Given the description of an element on the screen output the (x, y) to click on. 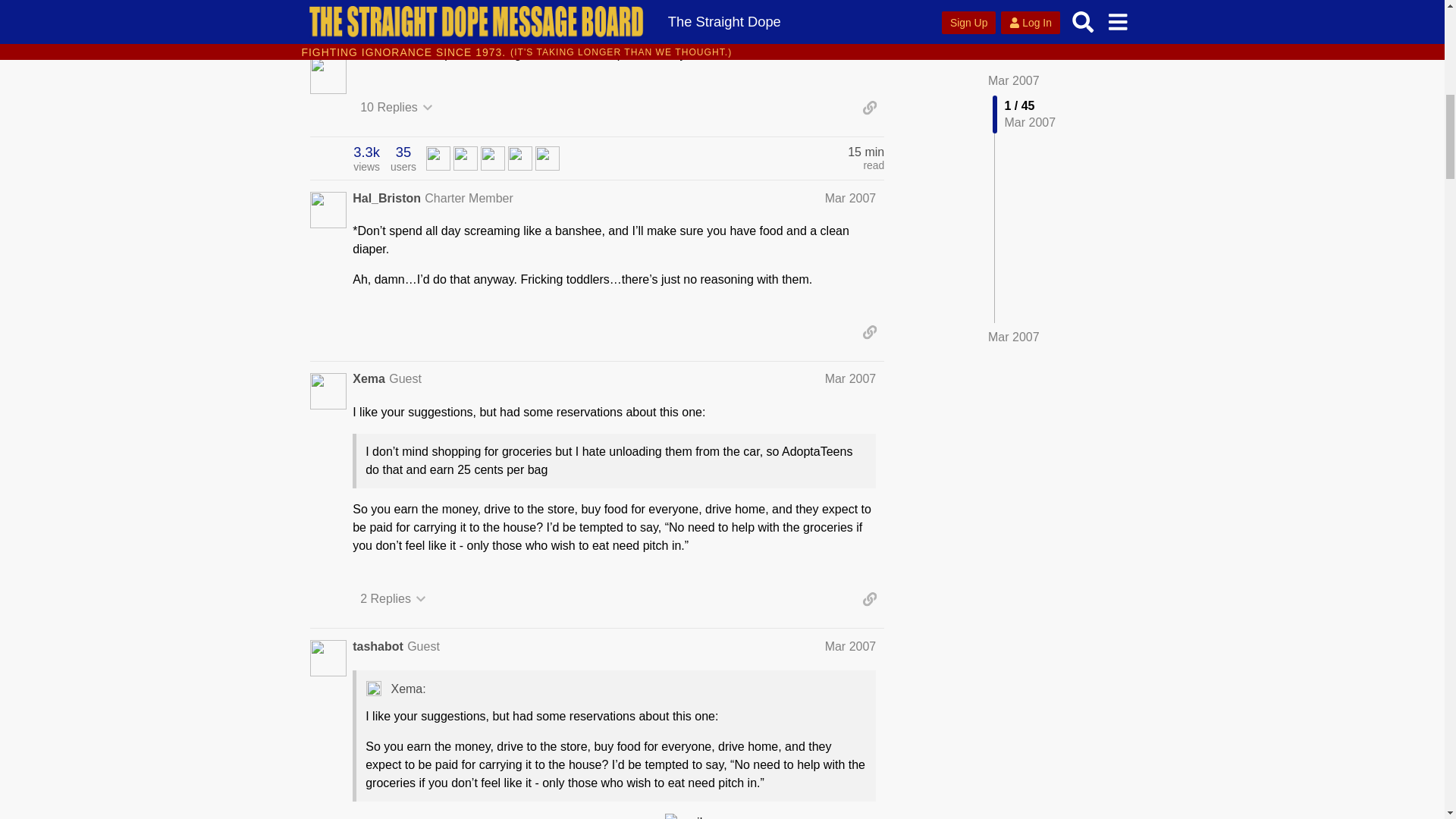
WhyNot (437, 158)
Mar 2007 (850, 197)
WhyNot (437, 156)
2 Replies (366, 158)
Guest (392, 598)
Xema (405, 378)
Mar 2007 (368, 379)
hotflungwok (850, 378)
Charter Member (464, 156)
